Given the description of an element on the screen output the (x, y) to click on. 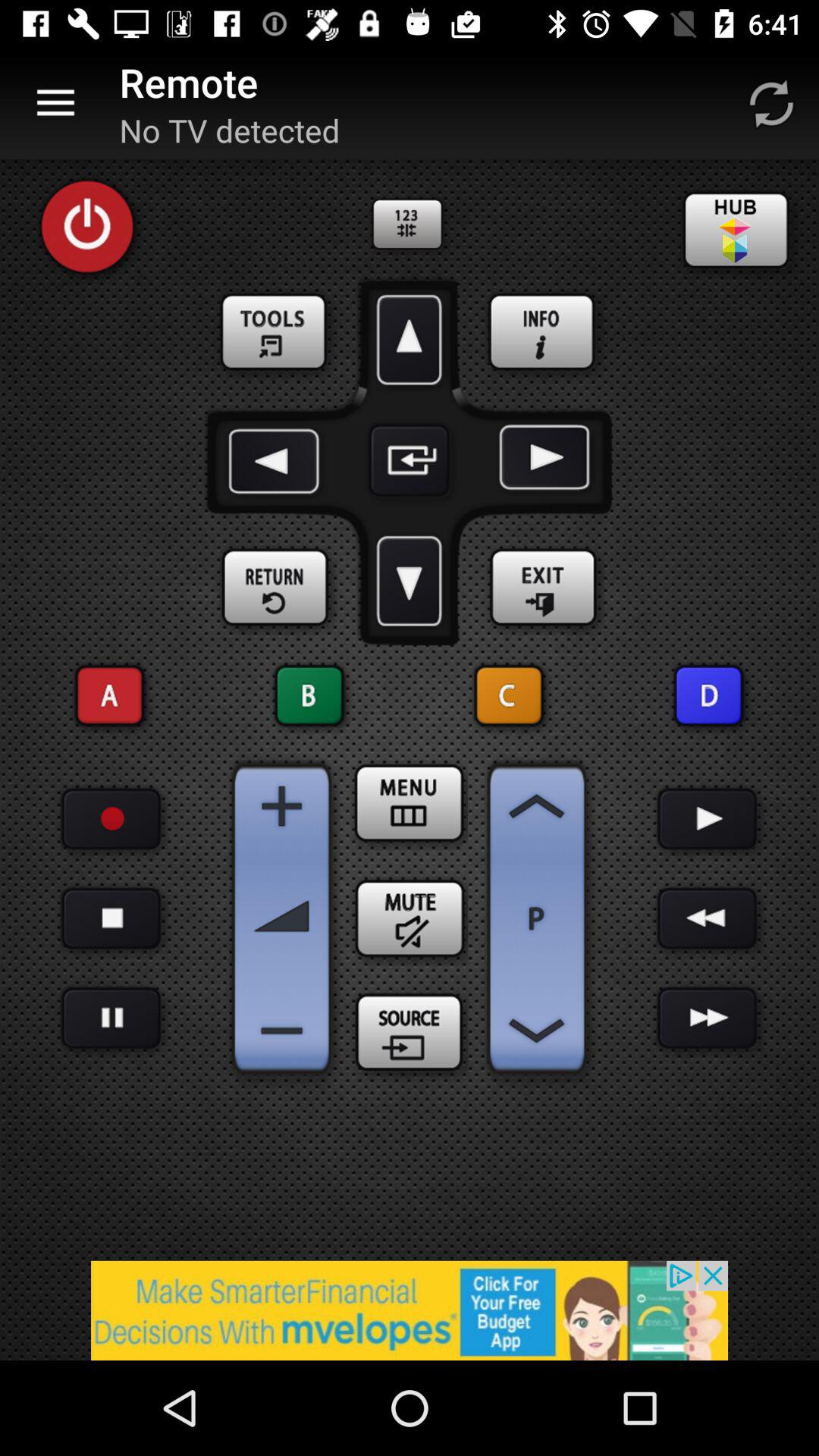
mute (409, 918)
